Given the description of an element on the screen output the (x, y) to click on. 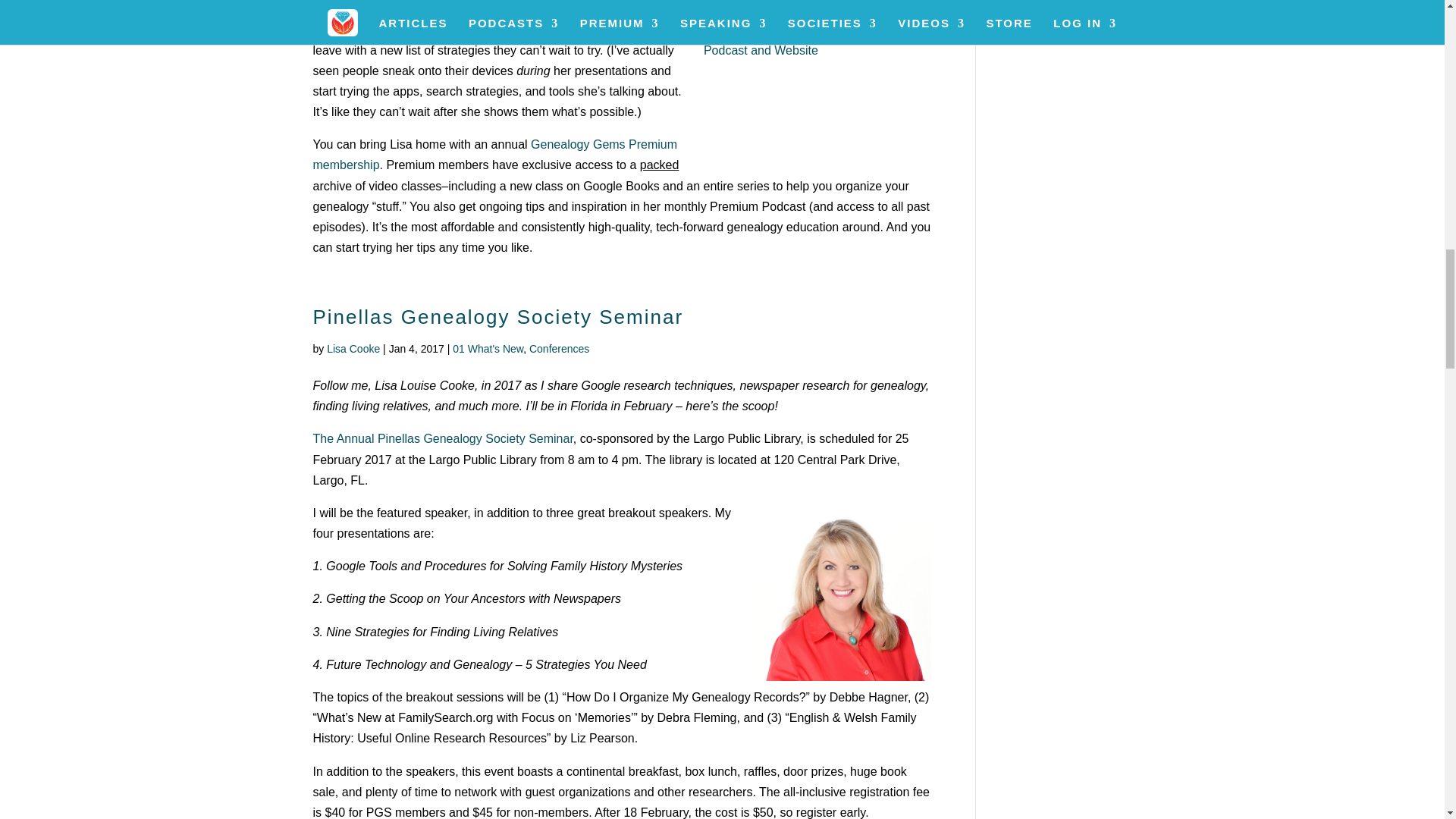
Posts by Lisa Cooke (353, 348)
